Given the description of an element on the screen output the (x, y) to click on. 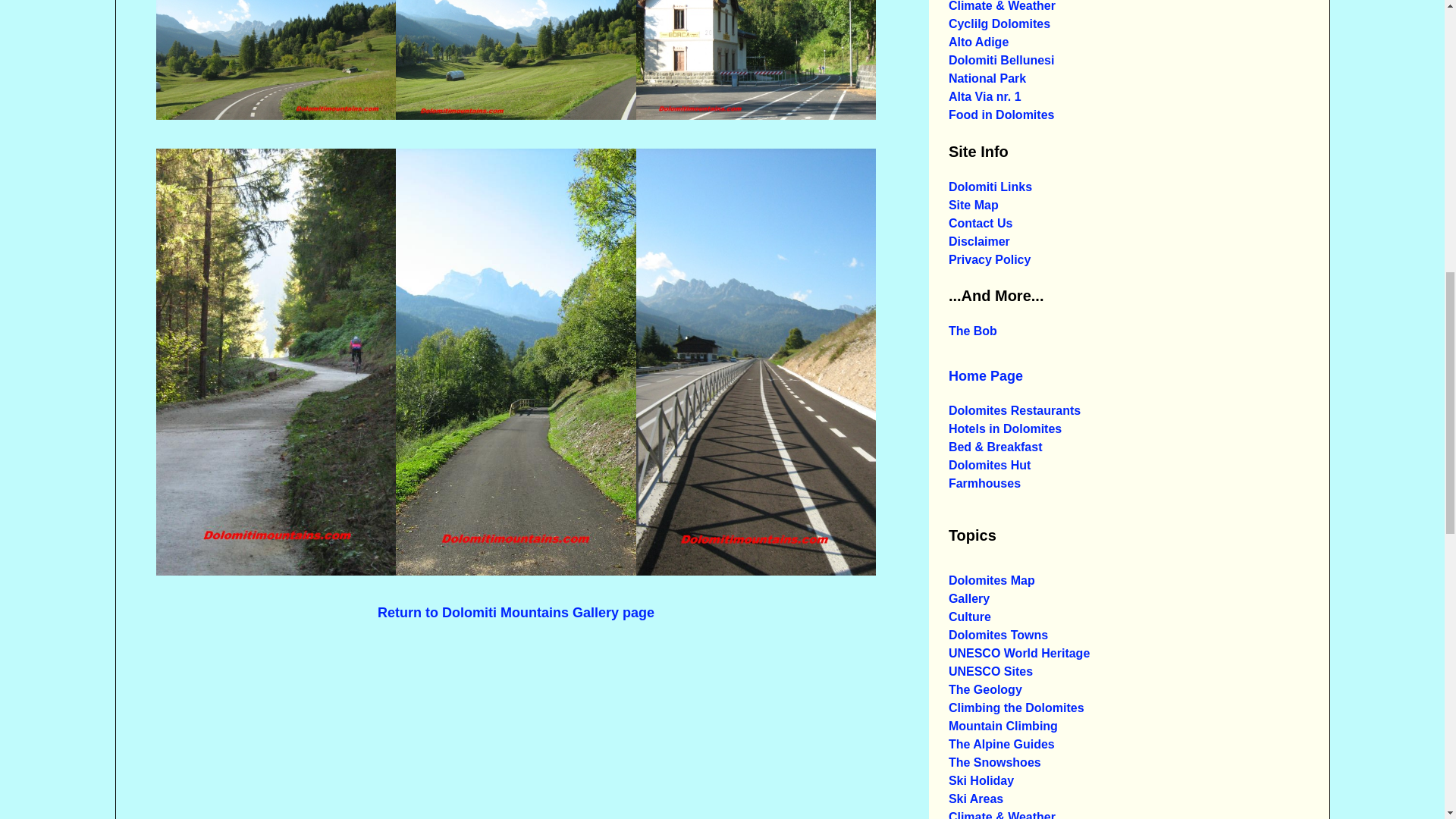
Go to Surrounded by Greenery (275, 114)
Dolomiti Links (990, 187)
Return to Dolomiti Mountains Gallery page (515, 611)
Go to Along the Road (756, 569)
Go to Railway  (756, 114)
Site Map (973, 205)
Go to Meadows and Mountains (515, 114)
Contact Us (1001, 70)
meadows and mountains (980, 224)
surrounded by greenery (515, 59)
Go to Nature and Peace (275, 59)
railway (275, 569)
Alta Via nr. 1 (756, 59)
Food in Dolomites (985, 97)
